Given the description of an element on the screen output the (x, y) to click on. 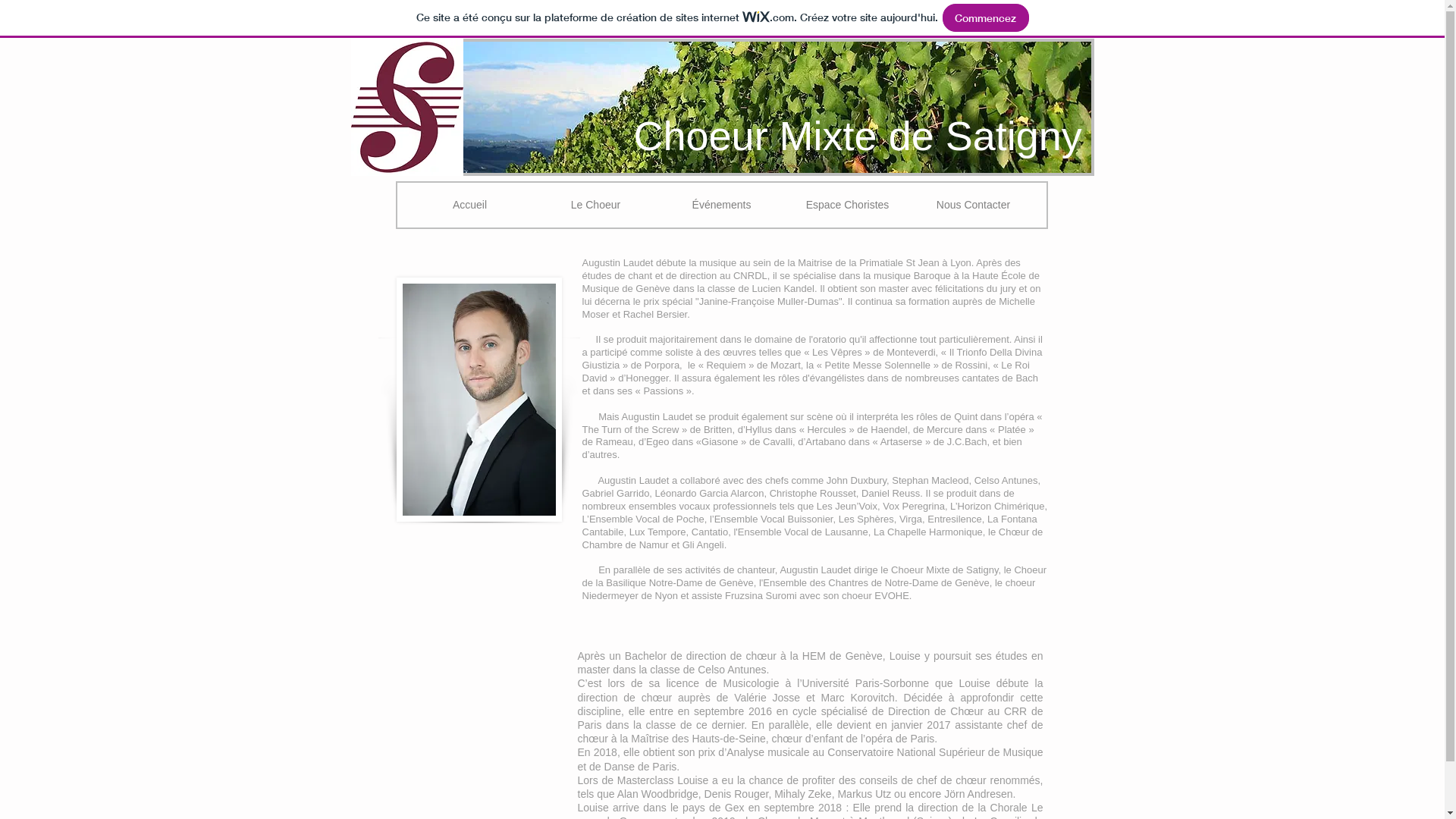
Espace Choristes Element type: text (847, 204)
Choeur Mixte de Satigny Element type: text (857, 135)
Accueil Element type: text (469, 204)
Nous Contacter Element type: text (972, 204)
Le Choeur Element type: text (595, 204)
Logo Choeur Mixte Satigny.jpg Element type: hover (406, 106)
